Given the description of an element on the screen output the (x, y) to click on. 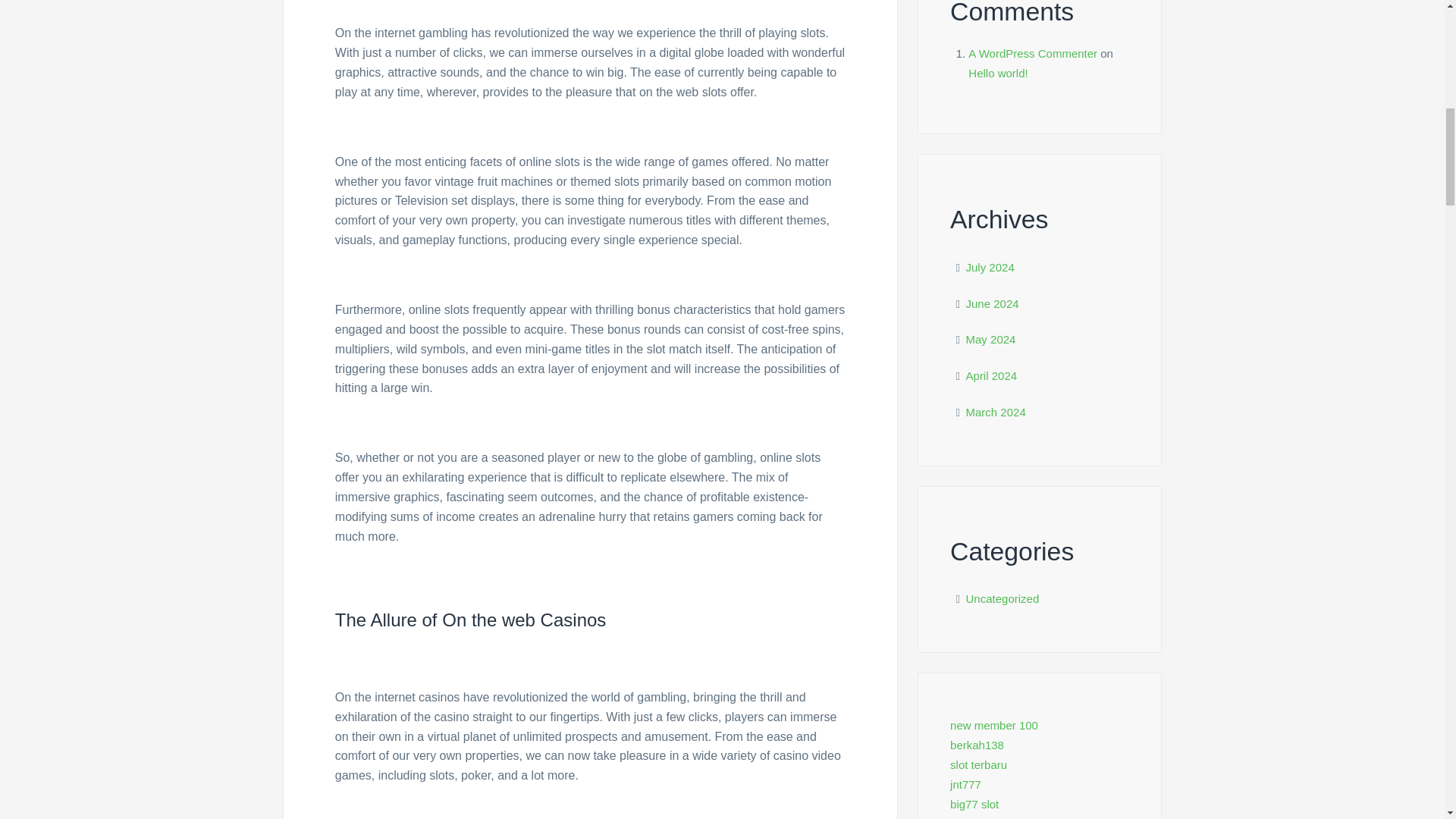
Hello world! (997, 72)
Uncategorized (1002, 598)
awalslot (970, 818)
jnt777 (965, 784)
berkah138 (977, 744)
June 2024 (992, 303)
July 2024 (990, 267)
April 2024 (991, 375)
big77 slot (974, 803)
slot terbaru (978, 764)
May 2024 (991, 338)
new member 100 (994, 725)
March 2024 (996, 411)
A WordPress Commenter (1032, 52)
